Given the description of an element on the screen output the (x, y) to click on. 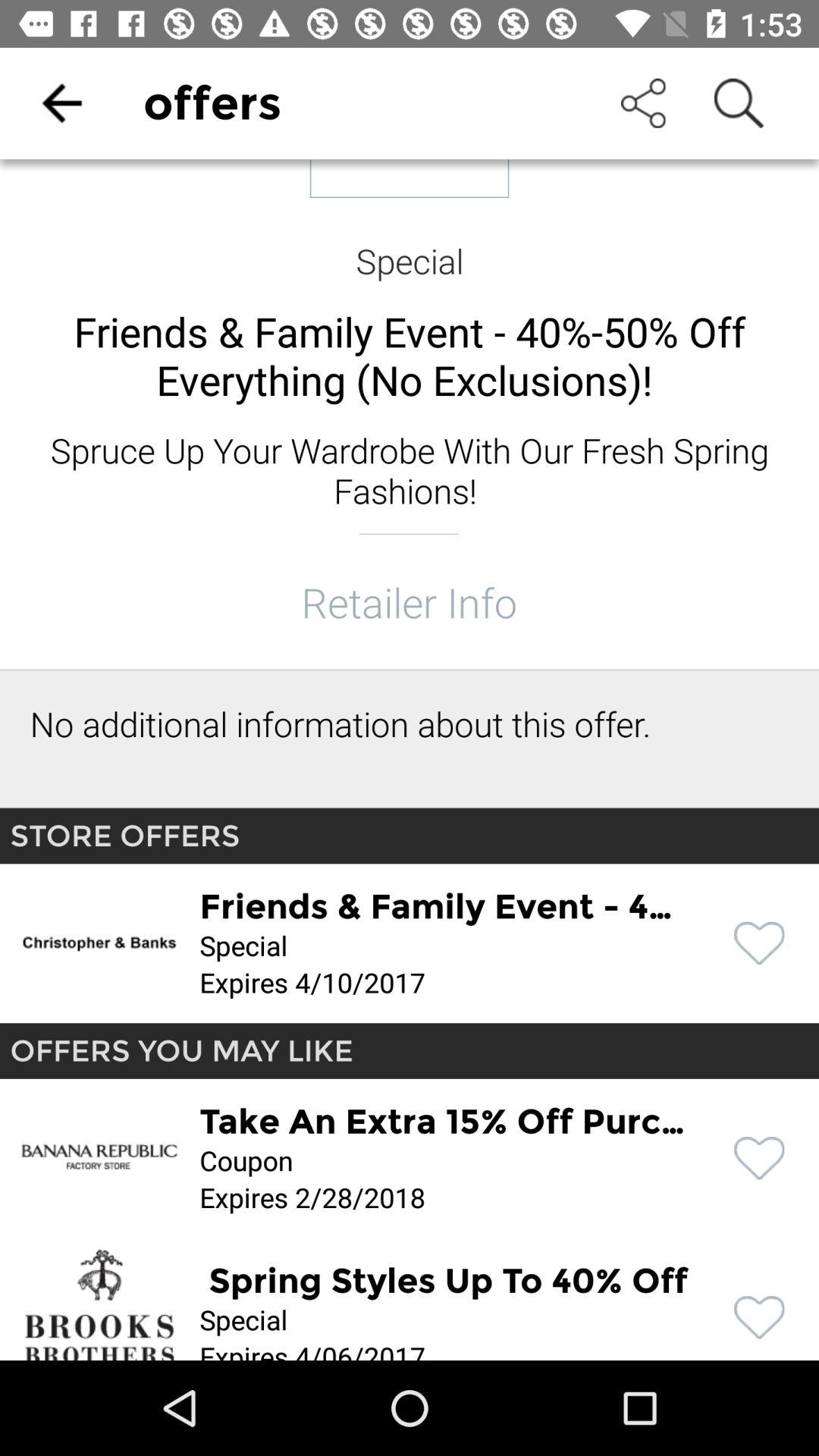
launch the retailer info item (408, 601)
